Given the description of an element on the screen output the (x, y) to click on. 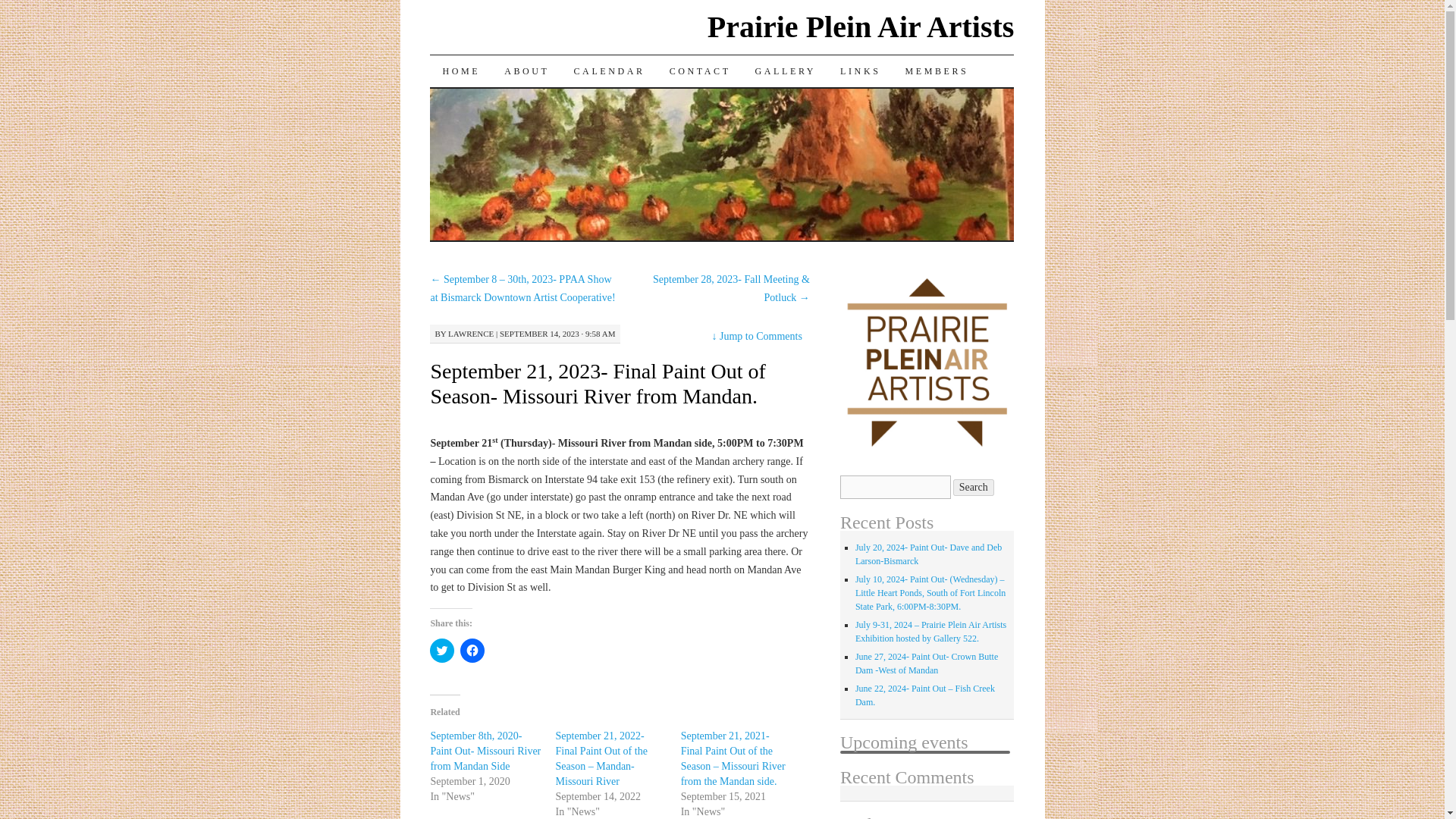
Prairie Plein Air Artists (860, 26)
Click to share on Facebook (472, 650)
CALENDAR (610, 70)
LAWRENCE (470, 333)
CONTACT (700, 70)
View all posts by LAWRENCE (470, 333)
ABOUT (526, 70)
LINKS (860, 70)
Prairie Plein Air Artists (860, 26)
HOME (460, 70)
Search (973, 487)
June 27, 2024- Paint Out- Crown Butte Dam -West of Mandan (926, 663)
Search (973, 487)
